Given the description of an element on the screen output the (x, y) to click on. 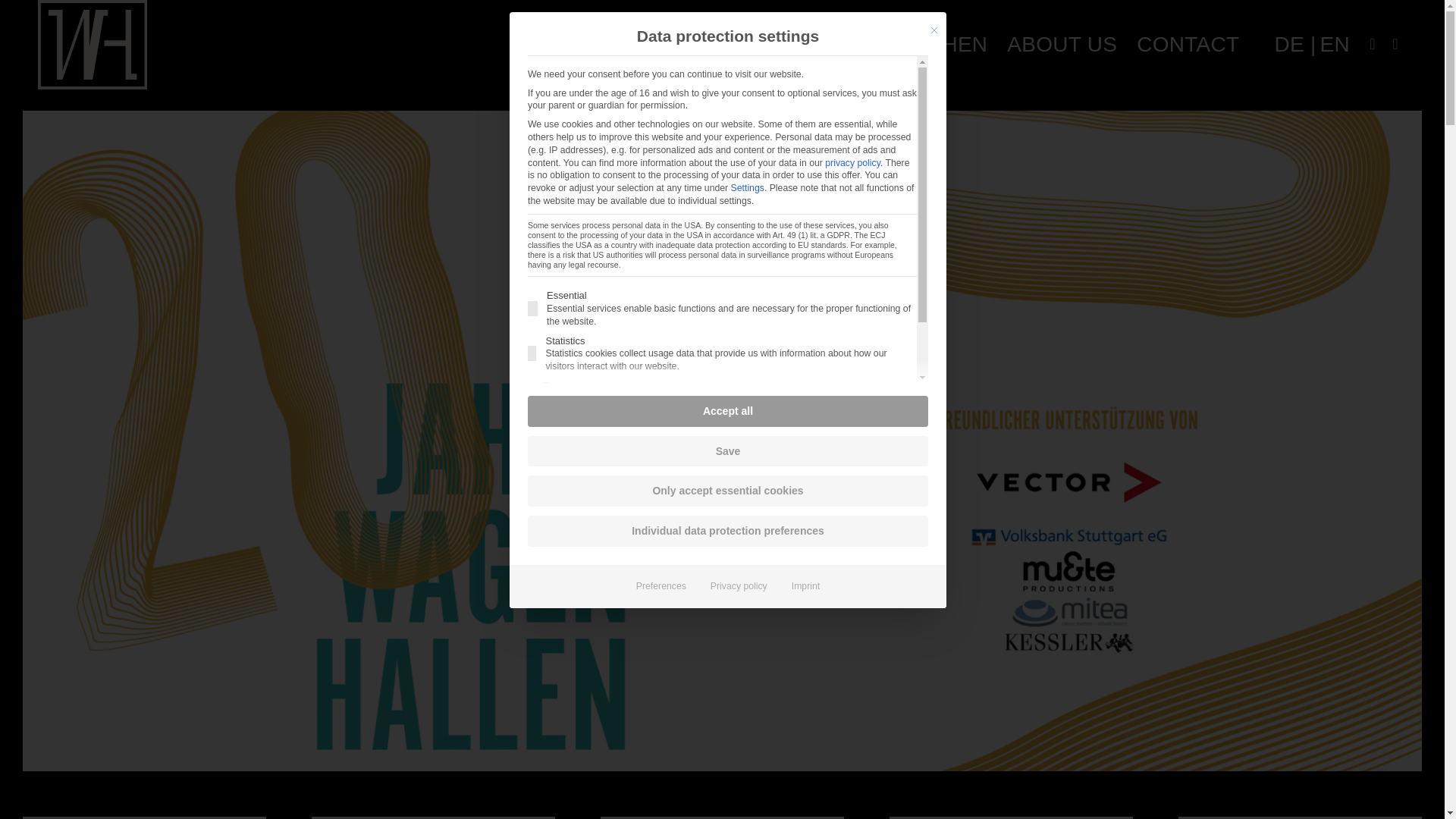
EN (1339, 44)
ROOMS (831, 44)
Facebook (1372, 43)
CULTURE (615, 44)
on (532, 308)
on (530, 398)
on (531, 353)
KITCHEN (939, 44)
DE (1291, 44)
EVENTS (730, 44)
CONTACT (1187, 44)
ABOUT US (1061, 44)
Instagram (1395, 43)
